Given the description of an element on the screen output the (x, y) to click on. 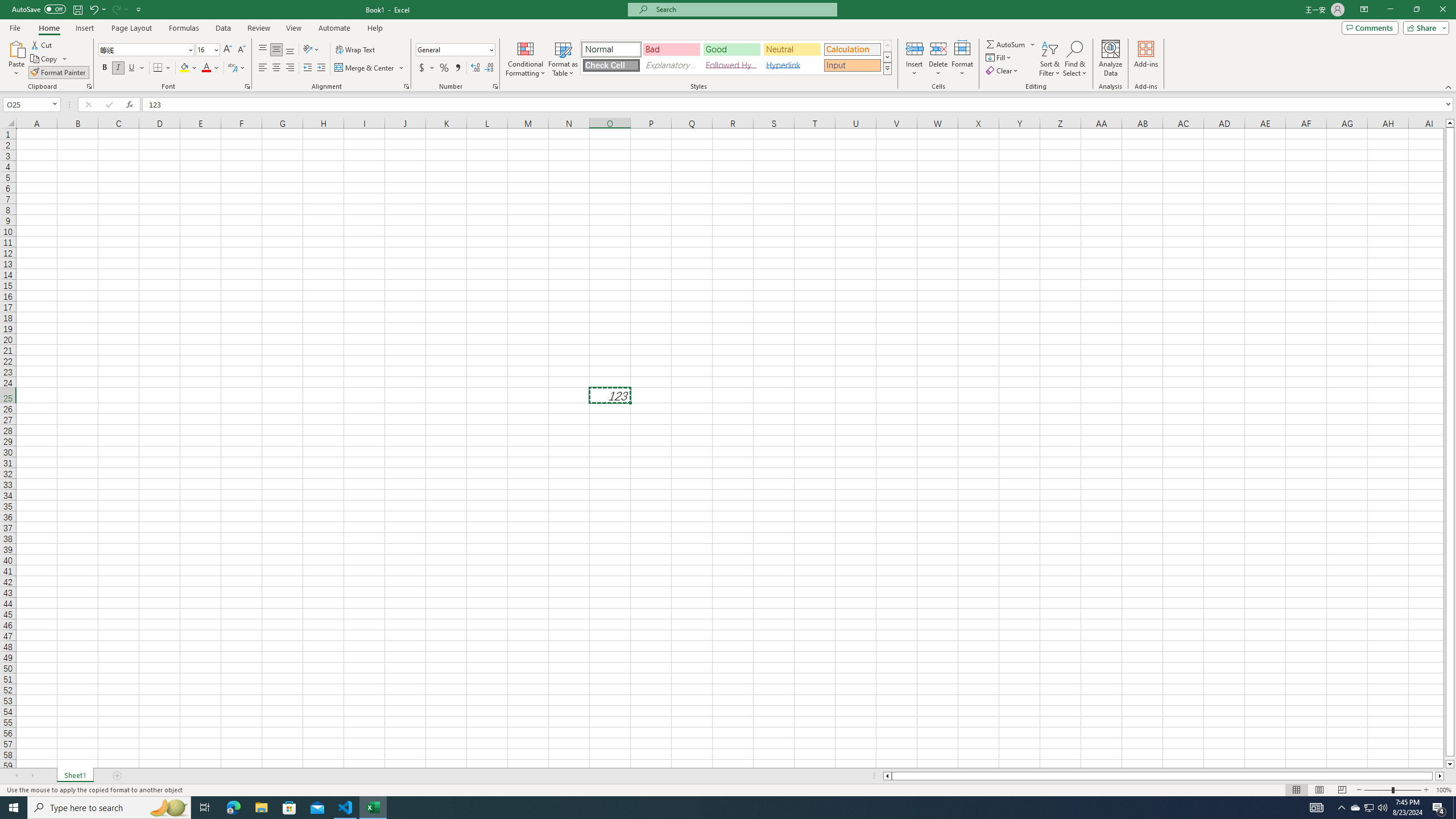
Format as Table (563, 58)
Class: NetUIImage (887, 68)
Cut (42, 44)
View (293, 28)
Customize Quick Access Toolbar (139, 9)
Quick Access Toolbar (77, 9)
Calculation (852, 49)
Redo (119, 9)
Fill (999, 56)
Normal (1296, 790)
Font Color (210, 67)
Underline (136, 67)
Sort & Filter (1049, 58)
Format Cell Alignment (405, 85)
Number Format (455, 49)
